Given the description of an element on the screen output the (x, y) to click on. 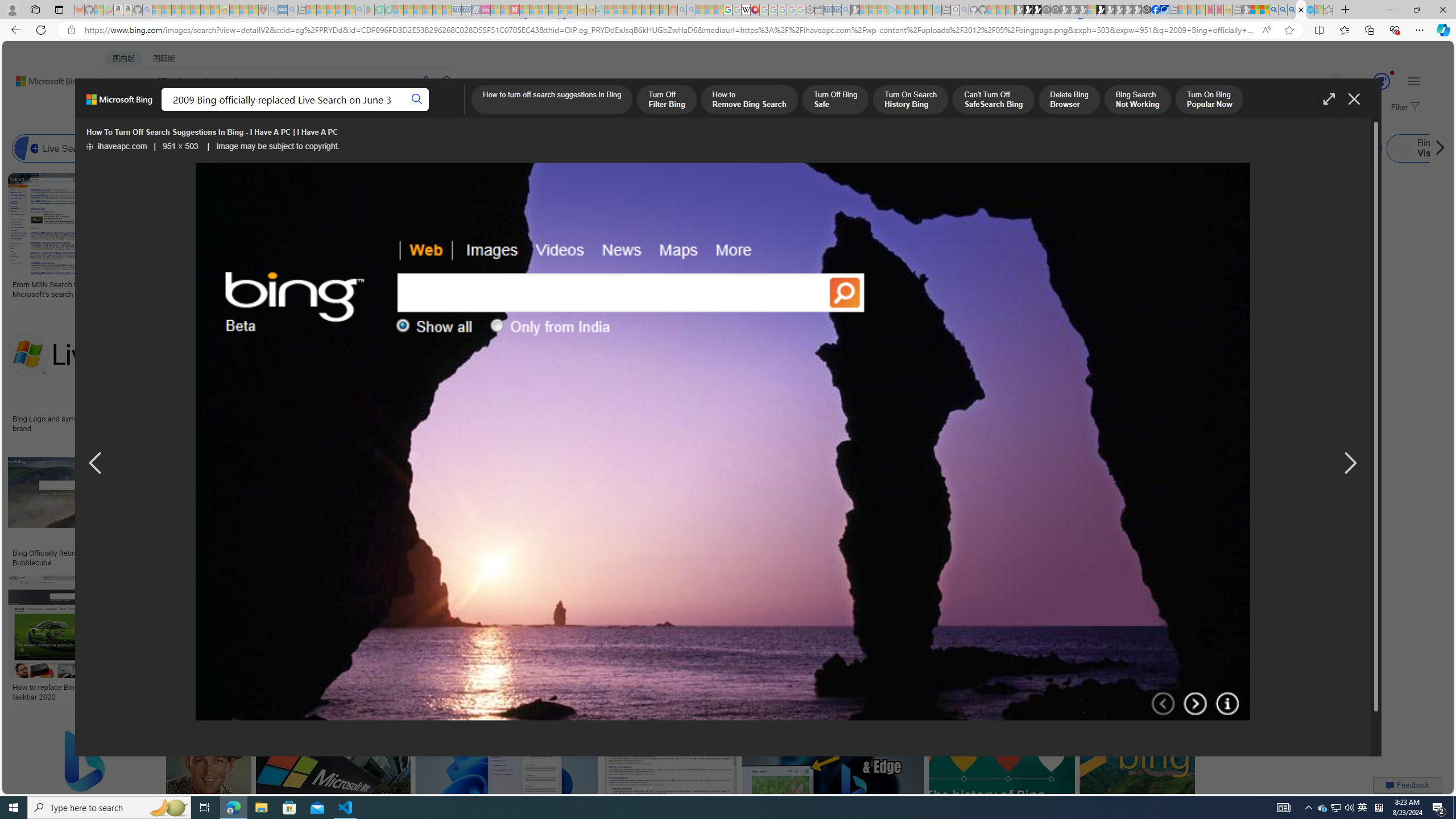
Nordace | Facebook (1154, 9)
list of asthma inhalers uk - Search - Sleeping (272, 9)
Microsoft-Report a Concern to Bing - Sleeping (98, 9)
Https Bing Search Q MSN (1195, 148)
Close image (1352, 99)
Bing Logo, symbol, meaning, history, PNG, brandSave (1123, 237)
Bing Logo and symbol, meaning, history, PNG, brandSave (98, 371)
